Given the description of an element on the screen output the (x, y) to click on. 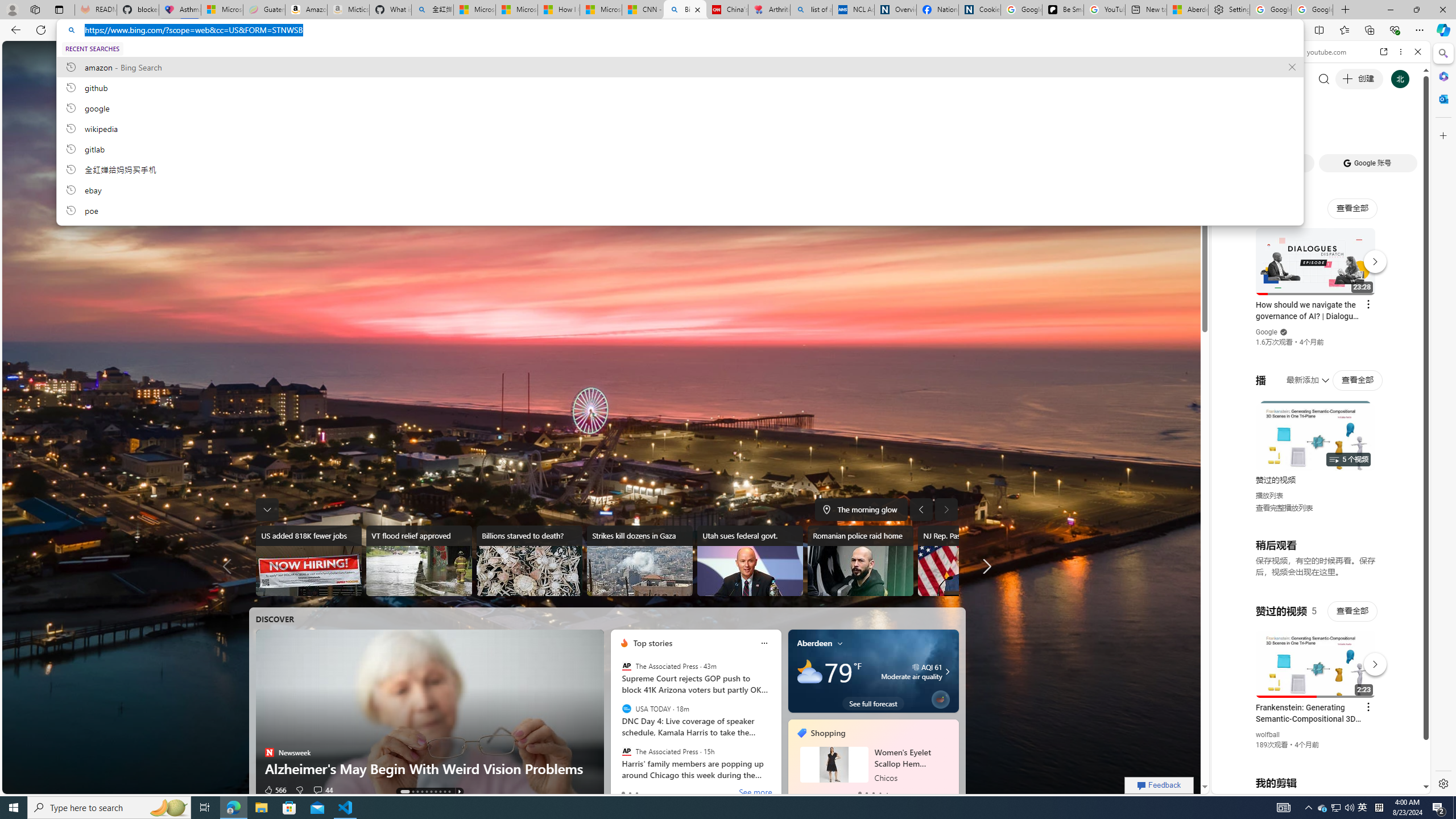
Forward (1242, 51)
wikipedia, recent searches from history (679, 127)
aqi-icon AQI 61 Moderate air quality (911, 671)
#you (1315, 659)
AutomationID: rh_meter (1037, 54)
Class: scopes  (402, 53)
AutomationID: tab-5 (431, 791)
The taskbar was expanded. Press to collapse taskbar (266, 508)
you (1315, 755)
0 characters out of 2000 (591, 205)
